Given the description of an element on the screen output the (x, y) to click on. 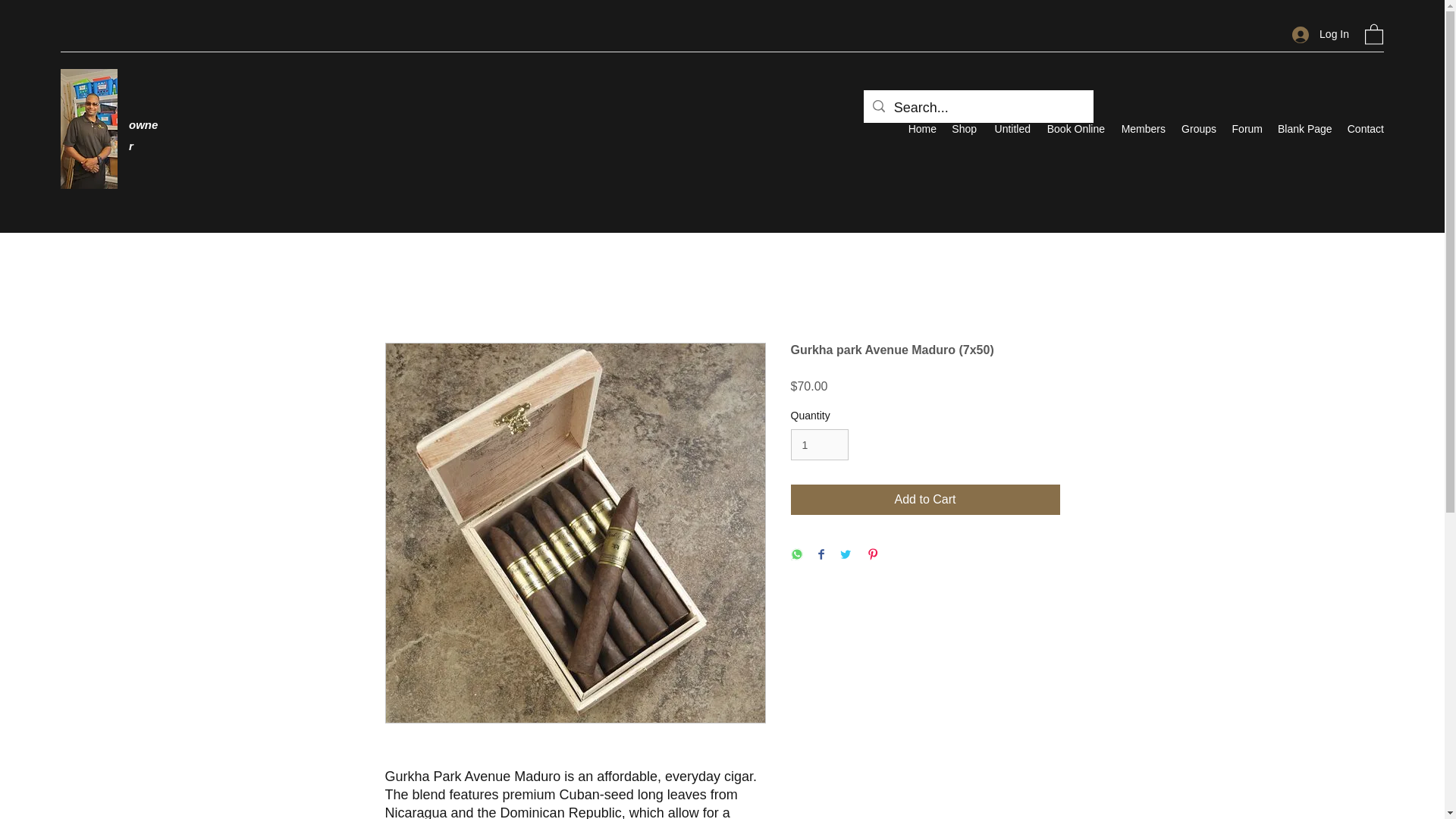
1 (818, 444)
Contact (1364, 128)
Groups (1198, 128)
Shop (963, 128)
Blank Page (1303, 128)
Forum (1246, 128)
Untitled (1011, 128)
Add to Cart (924, 499)
Members (1142, 128)
Log In (1320, 34)
